Given the description of an element on the screen output the (x, y) to click on. 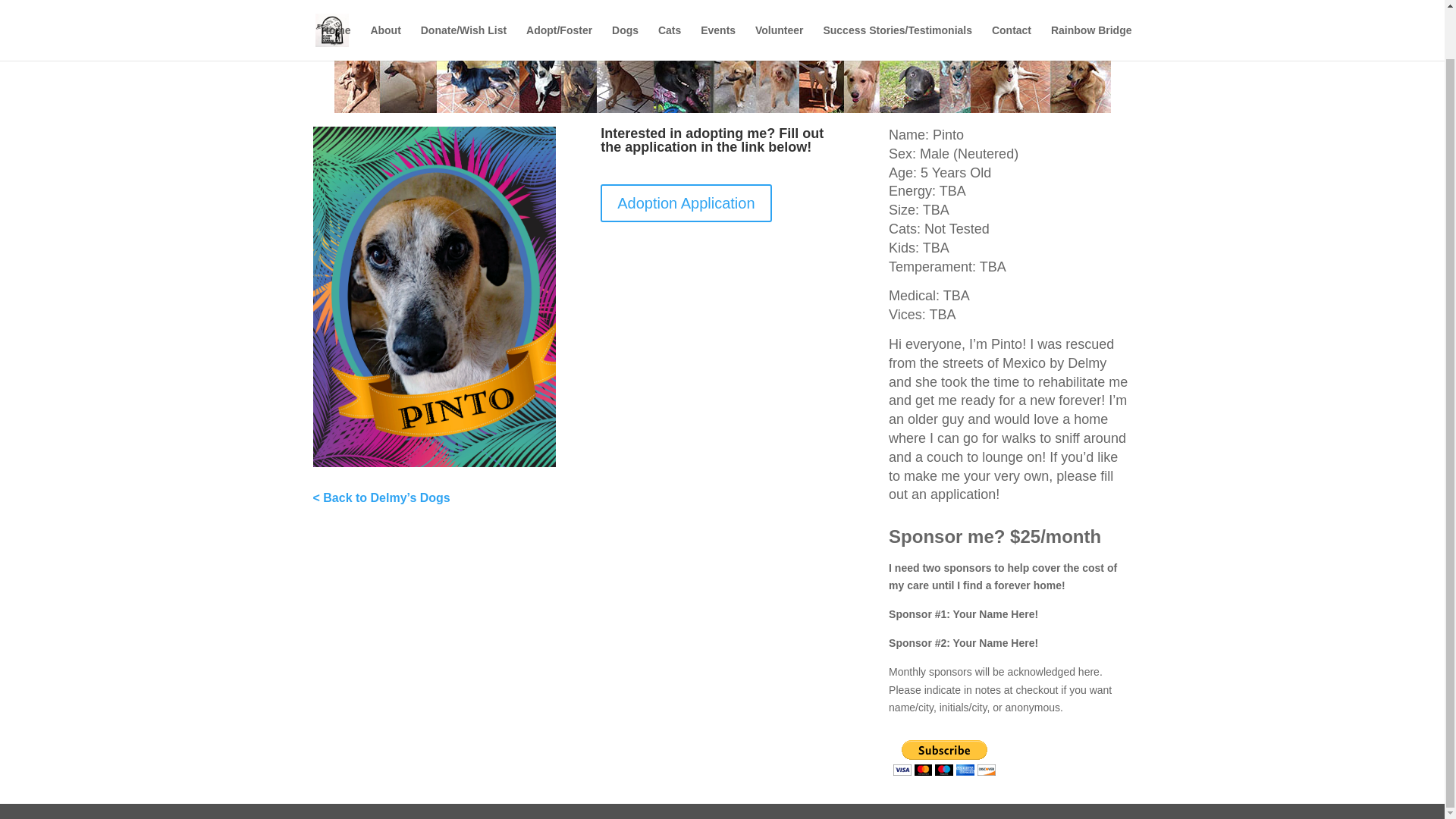
Volunteer (779, 4)
Rainbow Bridge (1091, 4)
Events (717, 4)
Adoption Application (685, 202)
Dogs (625, 4)
About (384, 4)
Home (335, 4)
Contact (1010, 4)
Cats (669, 4)
